Given the description of an element on the screen output the (x, y) to click on. 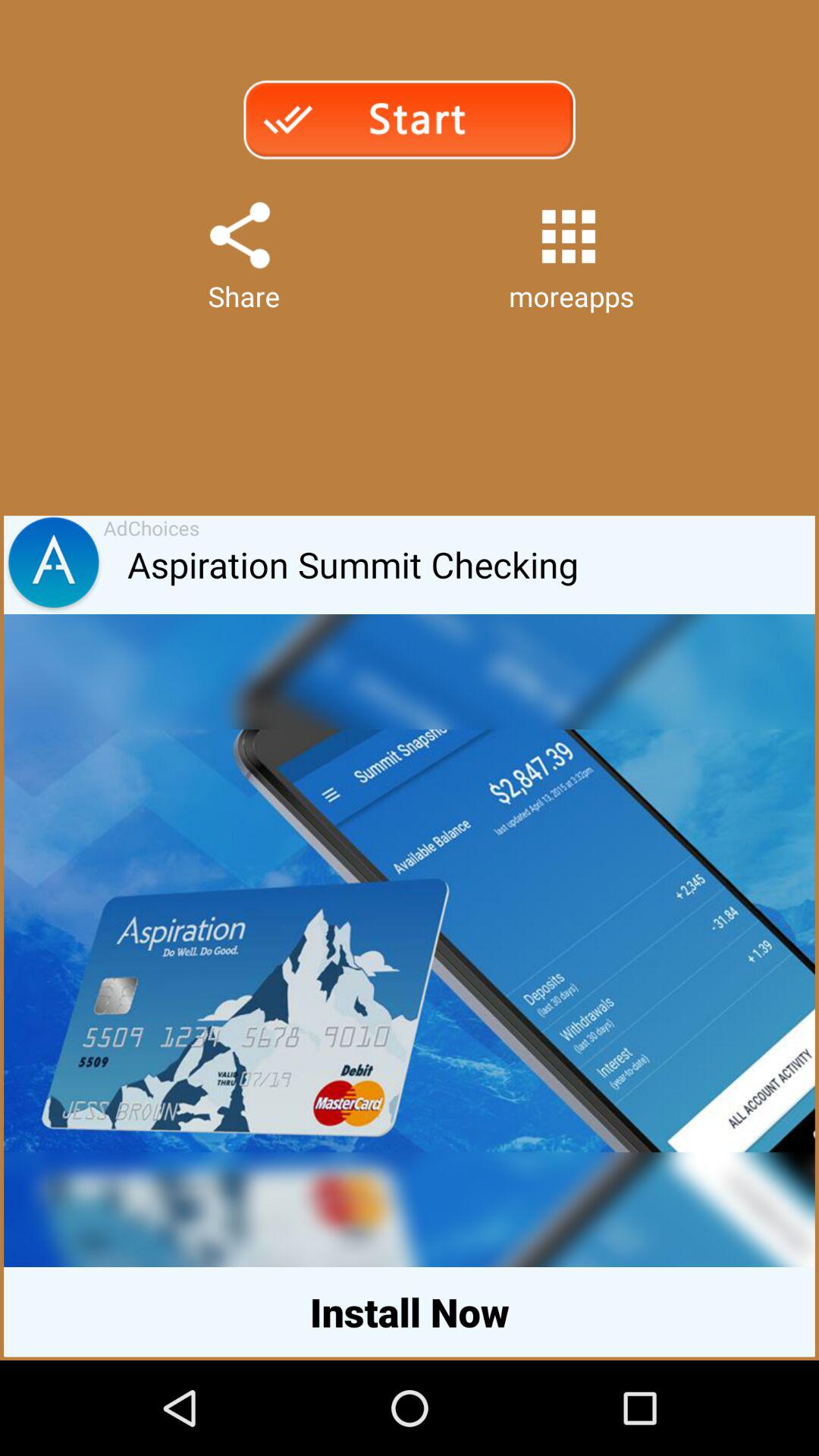
select the icon above the install now item (409, 1209)
